Given the description of an element on the screen output the (x, y) to click on. 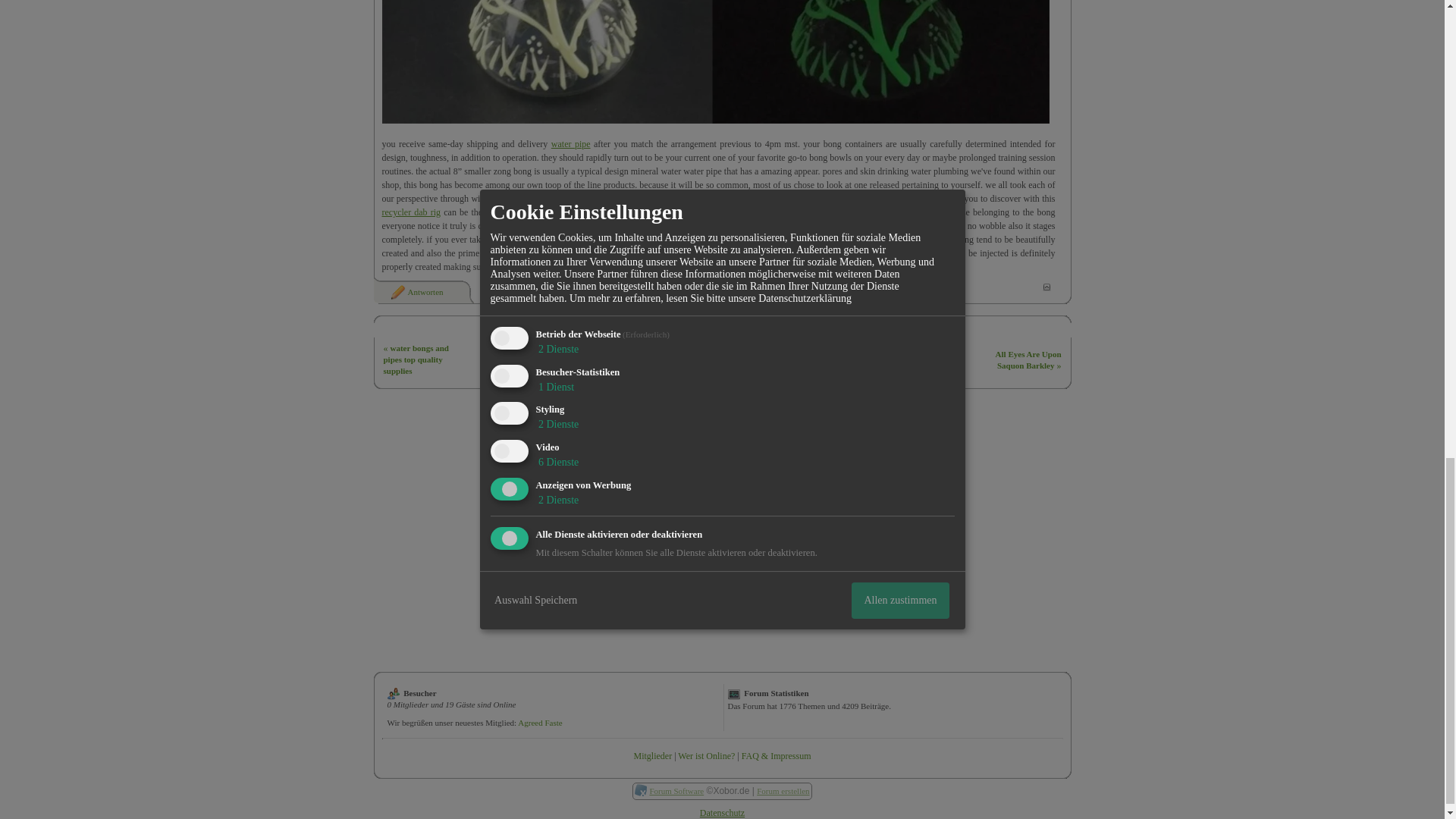
Wer ist Online? (706, 756)
Mitglieder (652, 756)
Forum erstellen (783, 790)
nach oben springen (1046, 287)
water pipe (571, 143)
Agreed Faste (540, 722)
Forum Software (676, 790)
All Eyes Are Upon Saquon Barkley (1028, 359)
Datenschutz (722, 812)
water bongs and pipes top quality supplies (416, 359)
Antworten (416, 291)
recycler dab rig (411, 212)
